Given the description of an element on the screen output the (x, y) to click on. 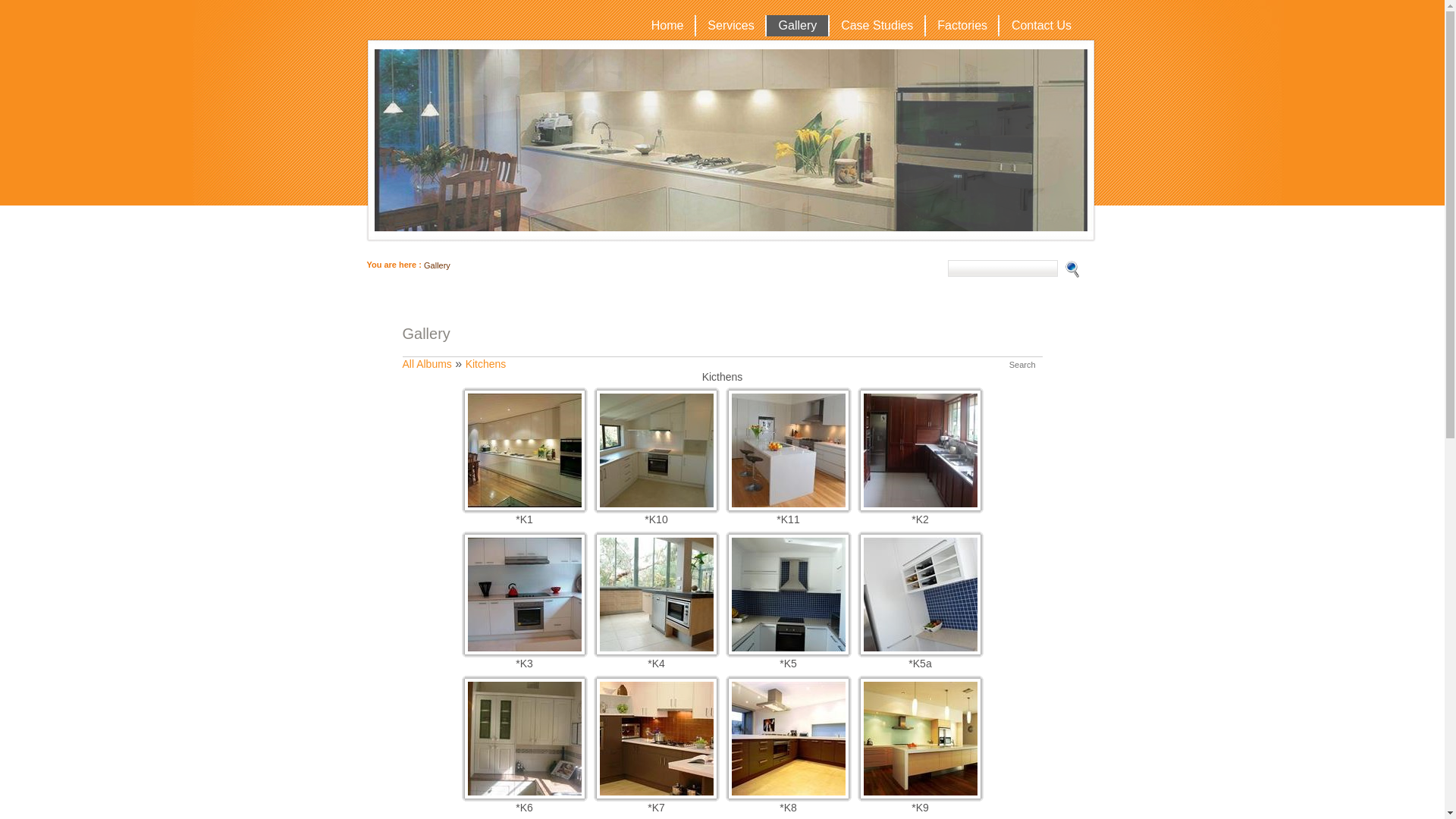
All Albums Element type: text (426, 363)
 Factories  Element type: text (961, 25)
*K2 Element type: hover (919, 506)
 Services  Element type: text (730, 25)
*K9 Element type: hover (919, 794)
Search Element type: text (1022, 364)
*K5a Element type: hover (919, 650)
*K5 Element type: hover (787, 650)
*K1 Element type: hover (523, 506)
*K7 Element type: hover (655, 794)
Gallery Element type: text (436, 264)
 Gallery  Element type: text (797, 25)
*K3 Element type: hover (523, 650)
*K6 Element type: hover (523, 794)
 Case Studies  Element type: text (876, 25)
*K11 Element type: hover (787, 506)
 Home  Element type: text (666, 25)
Kitchens Element type: text (485, 363)
*K4 Element type: hover (655, 650)
*K8 Element type: hover (787, 794)
*K10 Element type: hover (655, 506)
 Contact Us  Element type: text (1040, 25)
